Given the description of an element on the screen output the (x, y) to click on. 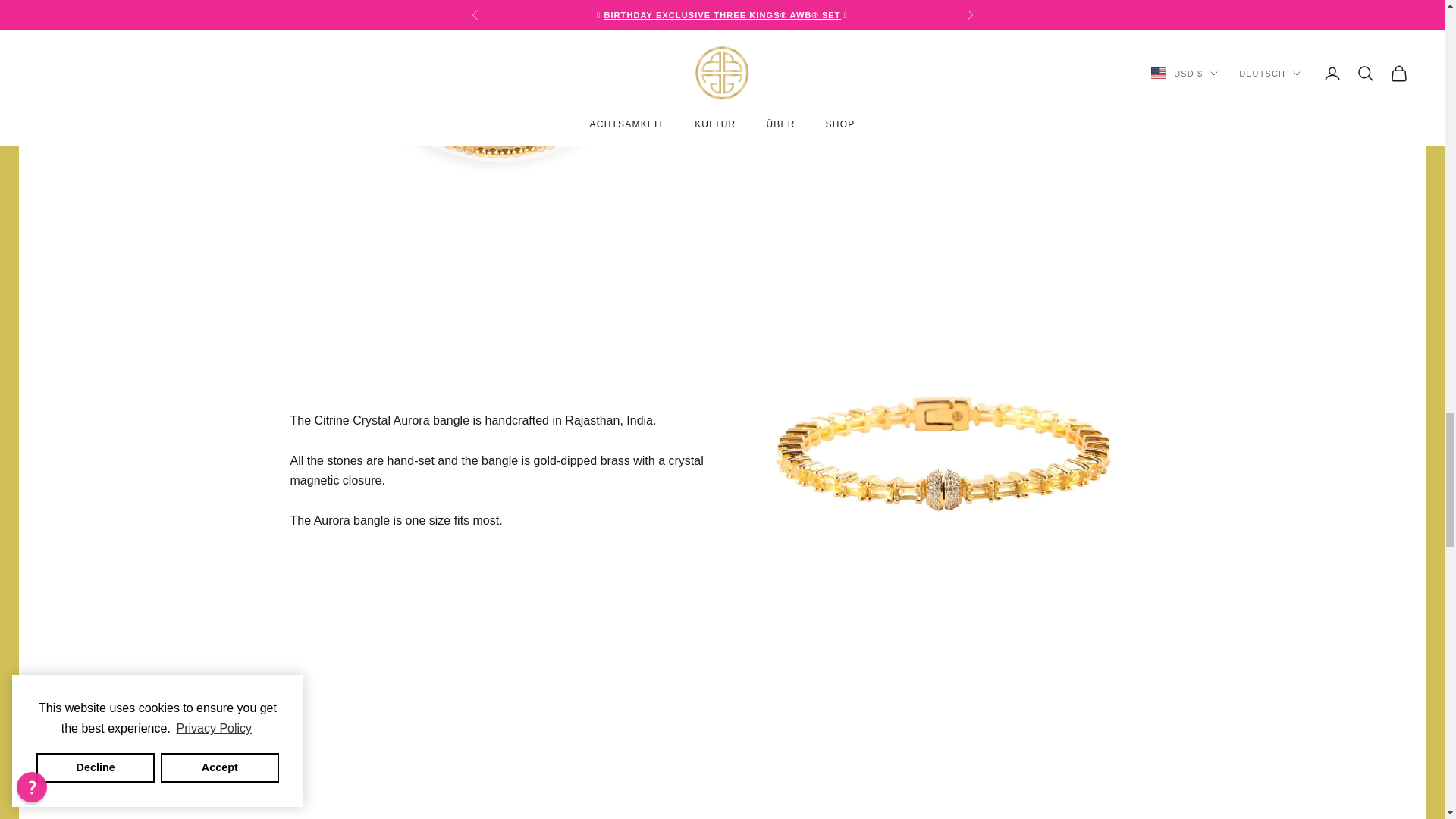
Calista Cuff (499, 765)
